Given the description of an element on the screen output the (x, y) to click on. 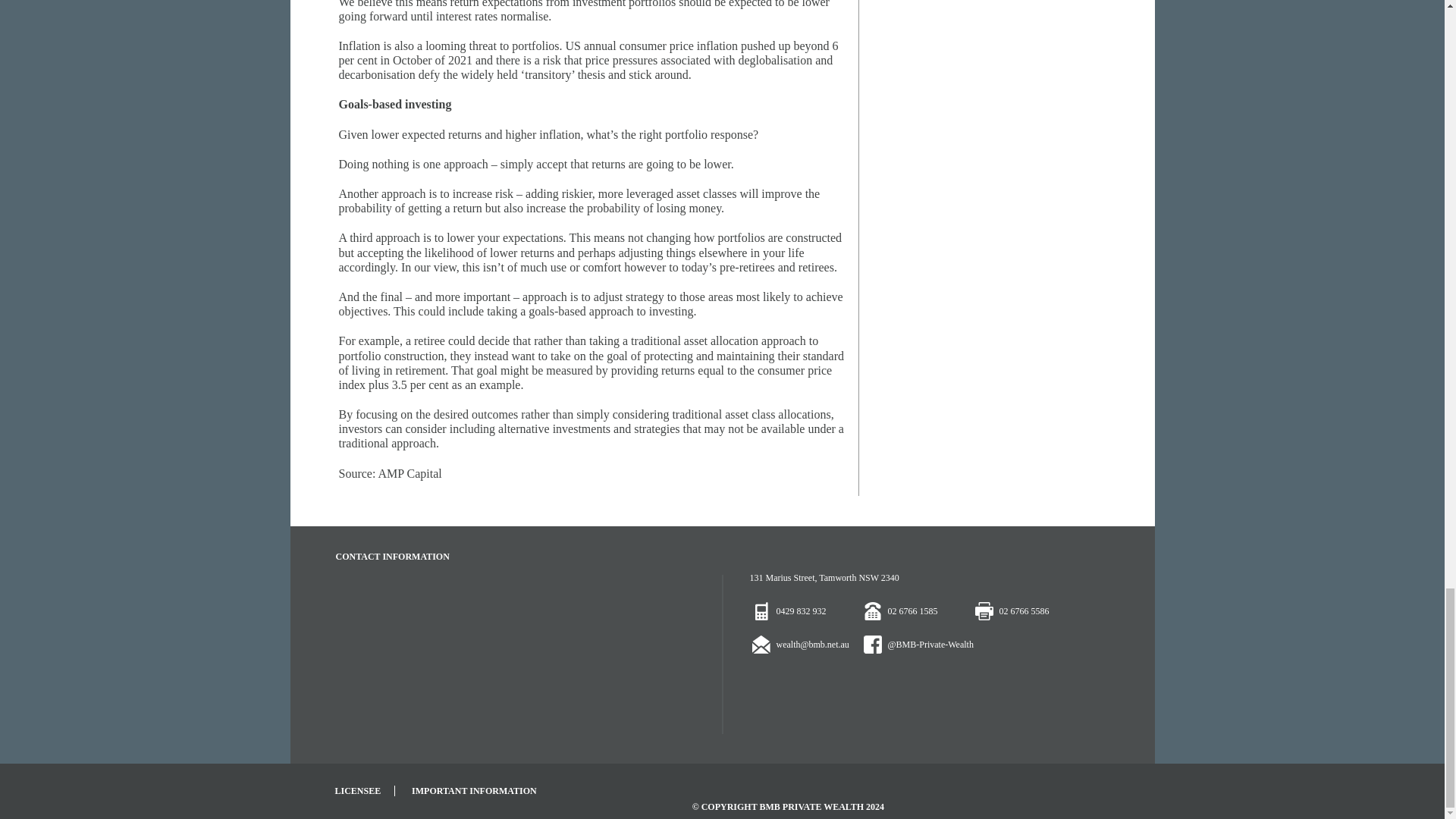
IMPORTANT INFORMATION (481, 790)
LICENSEE (365, 790)
